Given the description of an element on the screen output the (x, y) to click on. 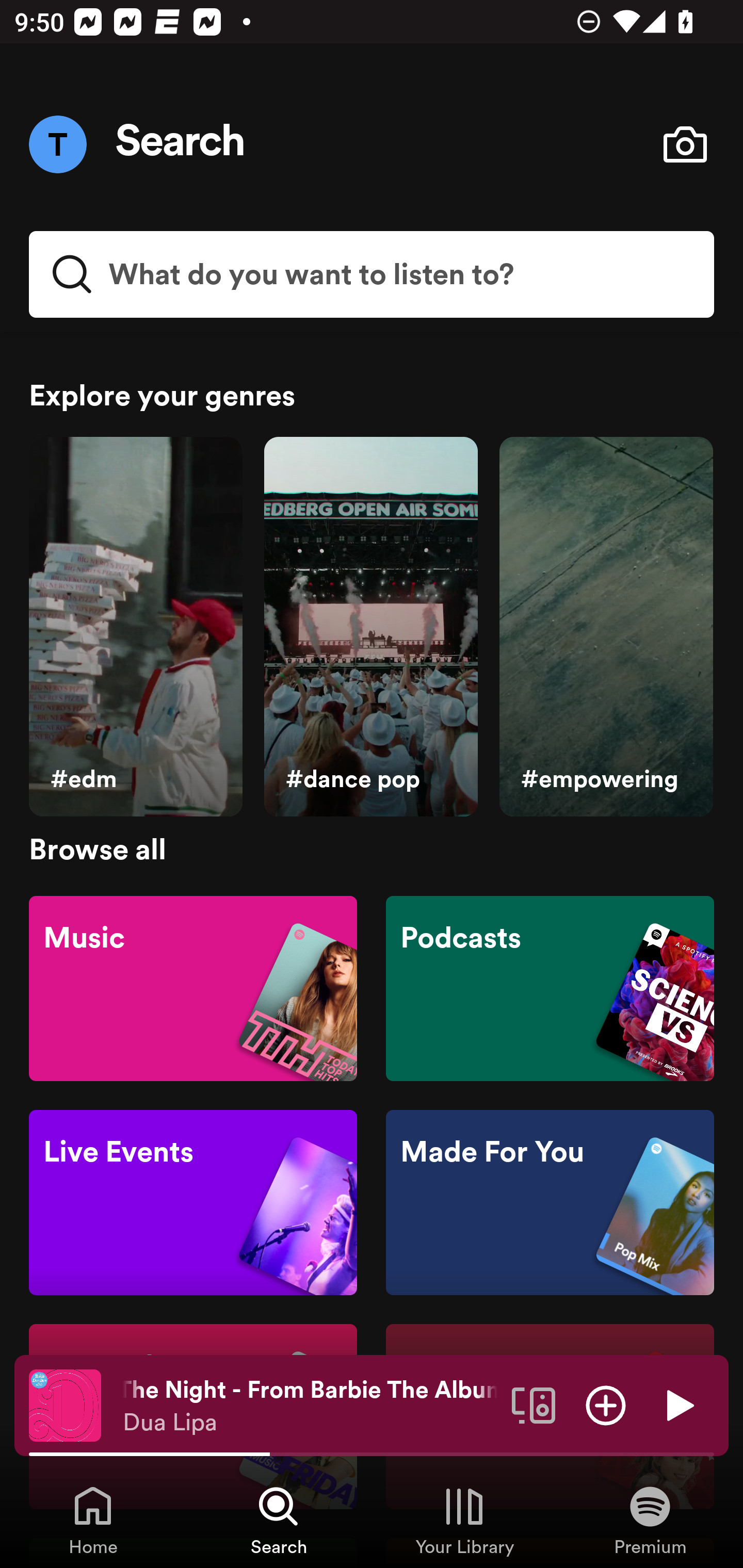
Menu (57, 144)
Open camera (685, 145)
Search (180, 144)
#edm (135, 626)
#dance pop (370, 626)
#empowering (606, 626)
Music (192, 987)
Podcasts (549, 987)
Live Events (192, 1202)
Made For You (549, 1202)
Dance The Night - From Barbie The Album Dua Lipa (309, 1405)
The cover art of the currently playing track (64, 1404)
Connect to a device. Opens the devices menu (533, 1404)
Add item (605, 1404)
Play (677, 1404)
Home, Tab 1 of 4 Home Home (92, 1519)
Search, Tab 2 of 4 Search Search (278, 1519)
Your Library, Tab 3 of 4 Your Library Your Library (464, 1519)
Premium, Tab 4 of 4 Premium Premium (650, 1519)
